Given the description of an element on the screen output the (x, y) to click on. 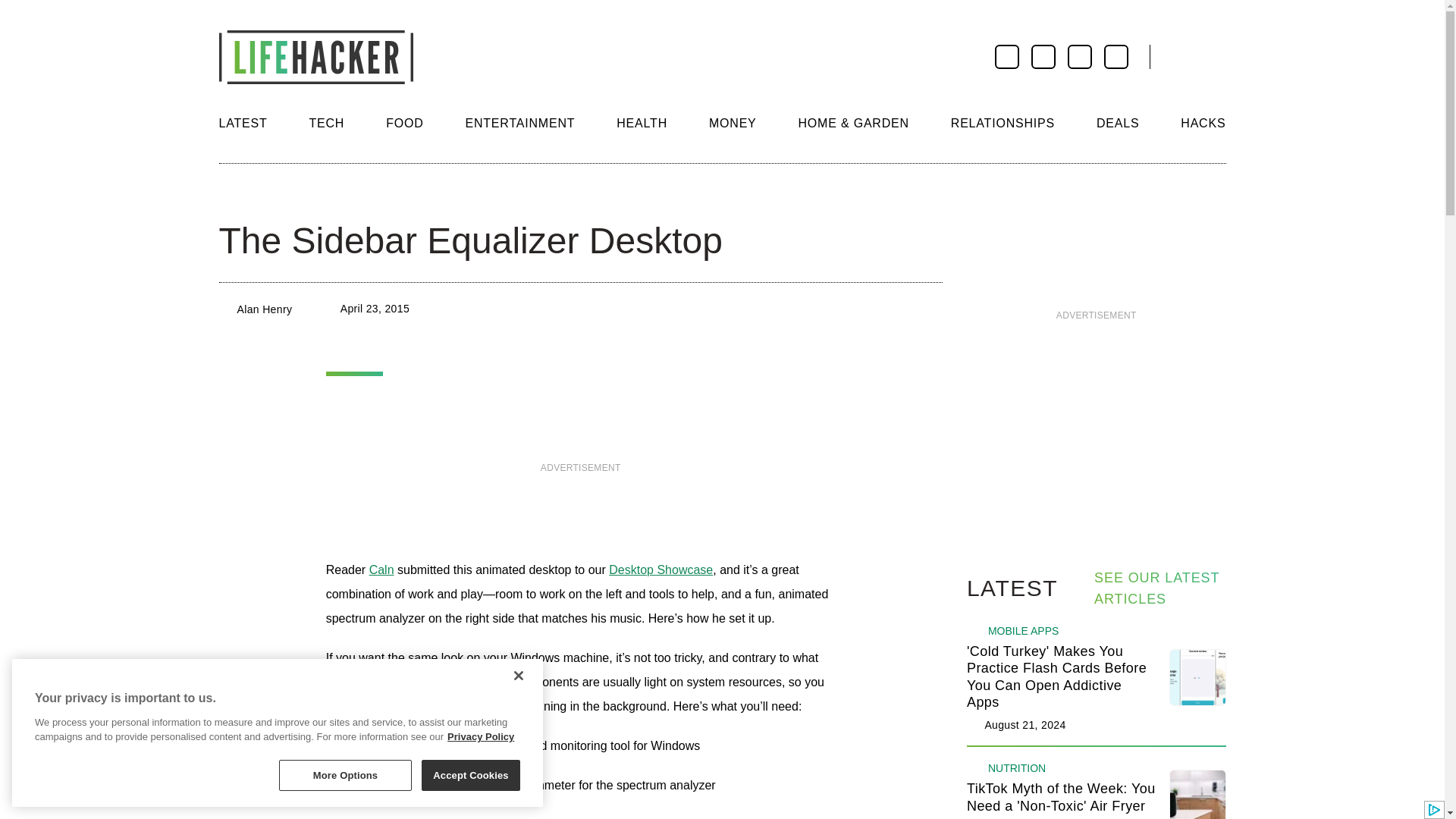
MONEY (733, 123)
RELATIONSHIPS (1002, 123)
Social Share (232, 193)
LATEST (242, 123)
TECH (325, 123)
Alan Henry (263, 309)
HACKS (1202, 123)
DEALS (1117, 123)
FOOD (404, 123)
HEALTH (640, 123)
